Given the description of an element on the screen output the (x, y) to click on. 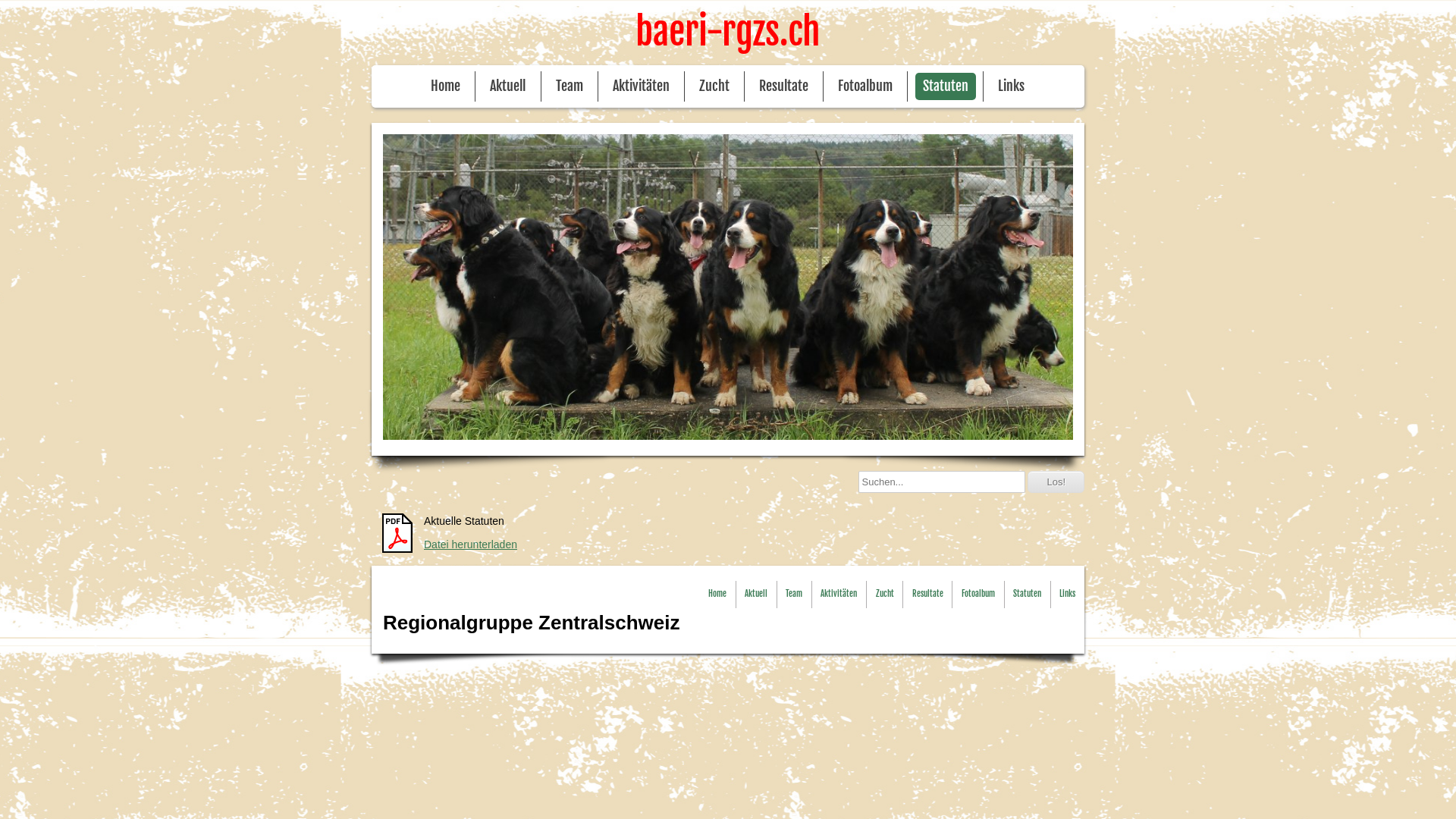
Team Element type: text (569, 86)
Resultate Element type: text (927, 593)
Statuten Element type: text (1026, 593)
Datei herunterladen Element type: text (470, 544)
Resultate Element type: text (783, 86)
Aktuell Element type: text (755, 593)
Zucht Element type: text (714, 86)
Links Element type: text (1066, 593)
Team Element type: text (793, 593)
Links Element type: text (1011, 86)
Aktuell Element type: text (507, 86)
Fotoalbum Element type: text (978, 593)
baeri-rgzs.ch Element type: text (727, 32)
Los! Element type: text (1055, 481)
Statuten Element type: text (945, 86)
Home Element type: text (717, 593)
Home Element type: text (445, 86)
Zucht Element type: text (884, 593)
Fotoalbum Element type: text (865, 86)
